Given the description of an element on the screen output the (x, y) to click on. 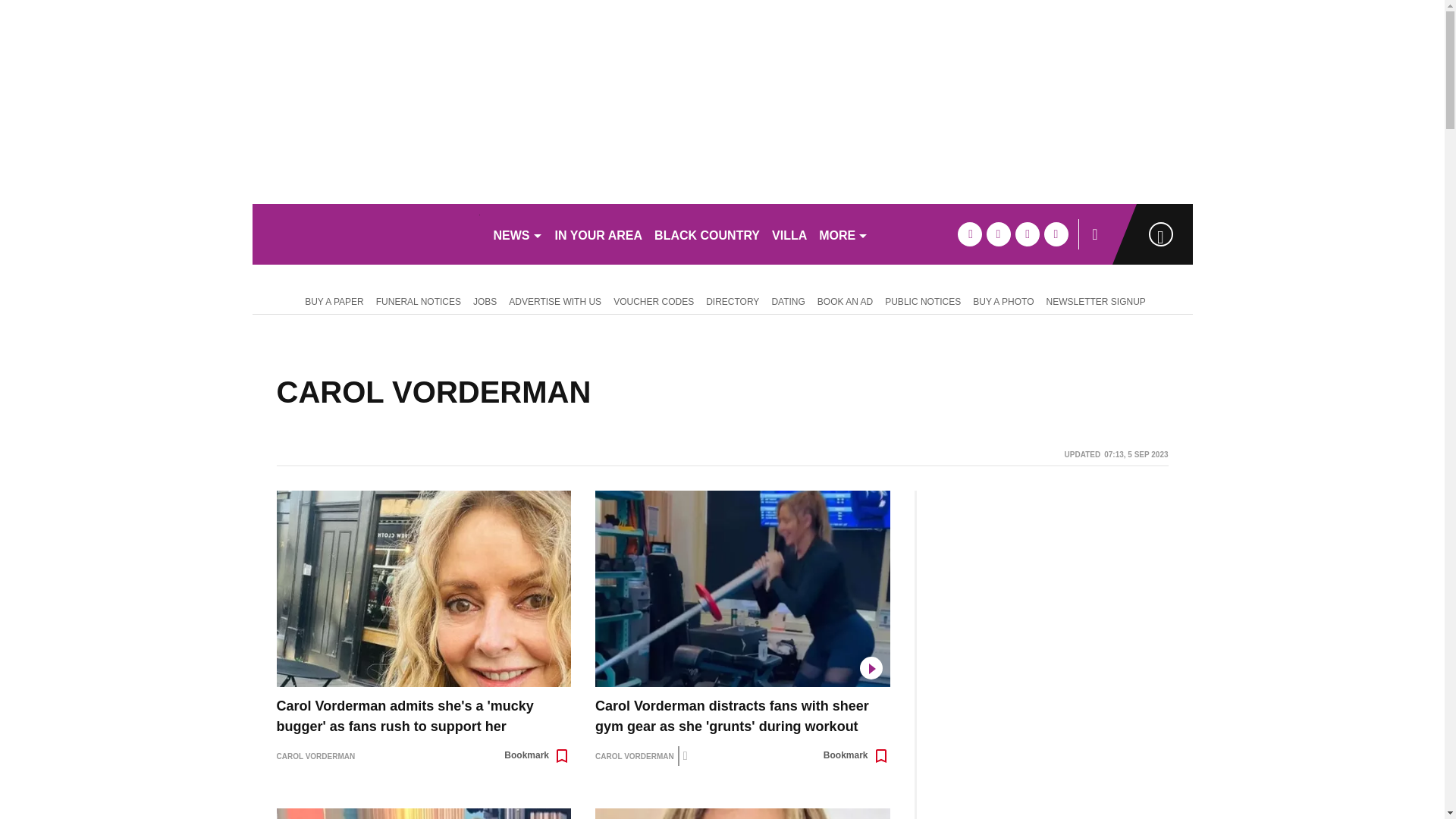
IN YOUR AREA (598, 233)
MORE (843, 233)
tiktok (1026, 233)
NEWS (517, 233)
facebook (968, 233)
BLACK COUNTRY (706, 233)
birminghammail (365, 233)
VILLA (788, 233)
twitter (997, 233)
instagram (1055, 233)
